Given the description of an element on the screen output the (x, y) to click on. 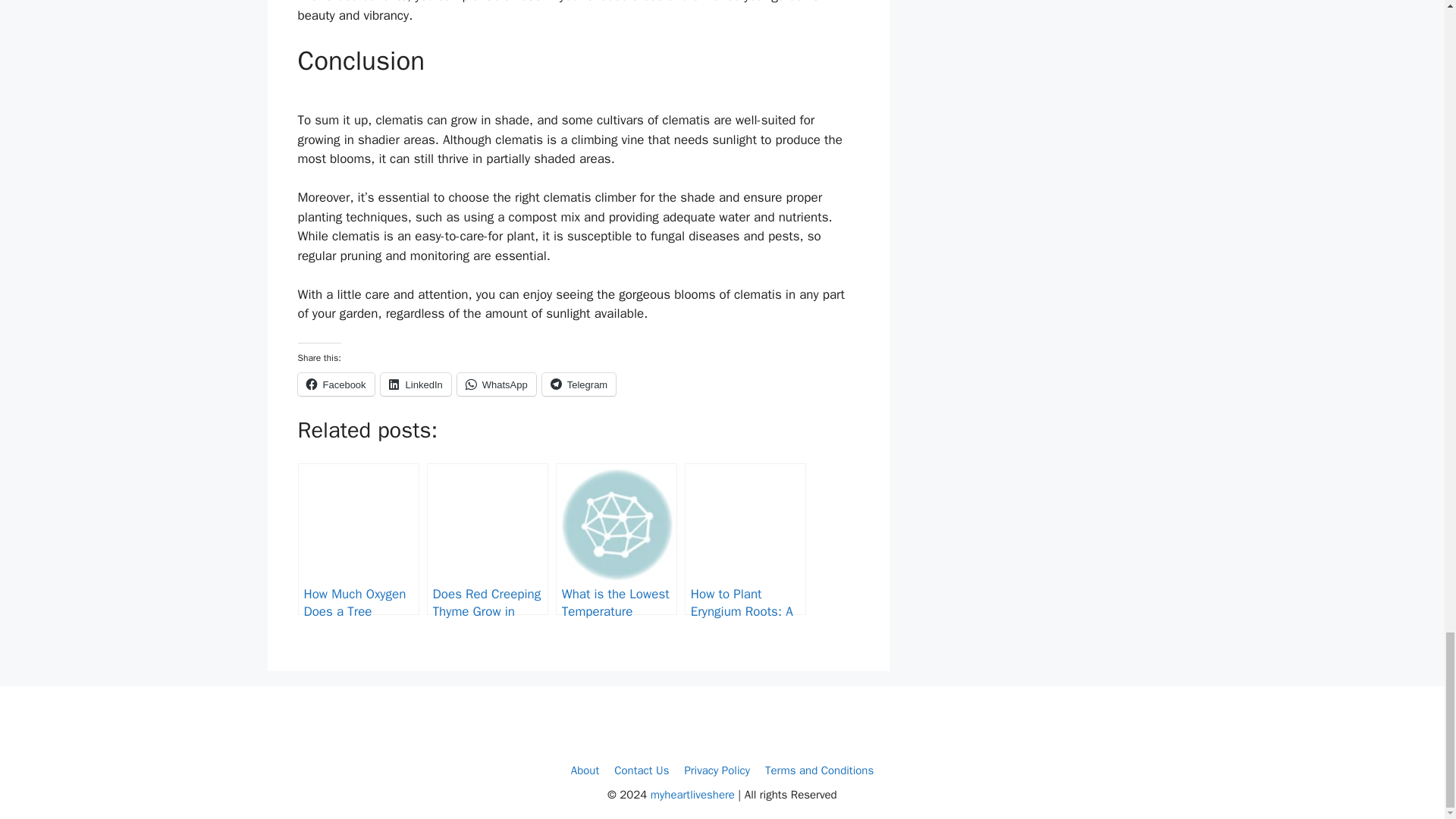
Click to share on LinkedIn (415, 384)
Click to share on Telegram (578, 384)
Click to share on Facebook (335, 384)
Click to share on WhatsApp (496, 384)
